Given the description of an element on the screen output the (x, y) to click on. 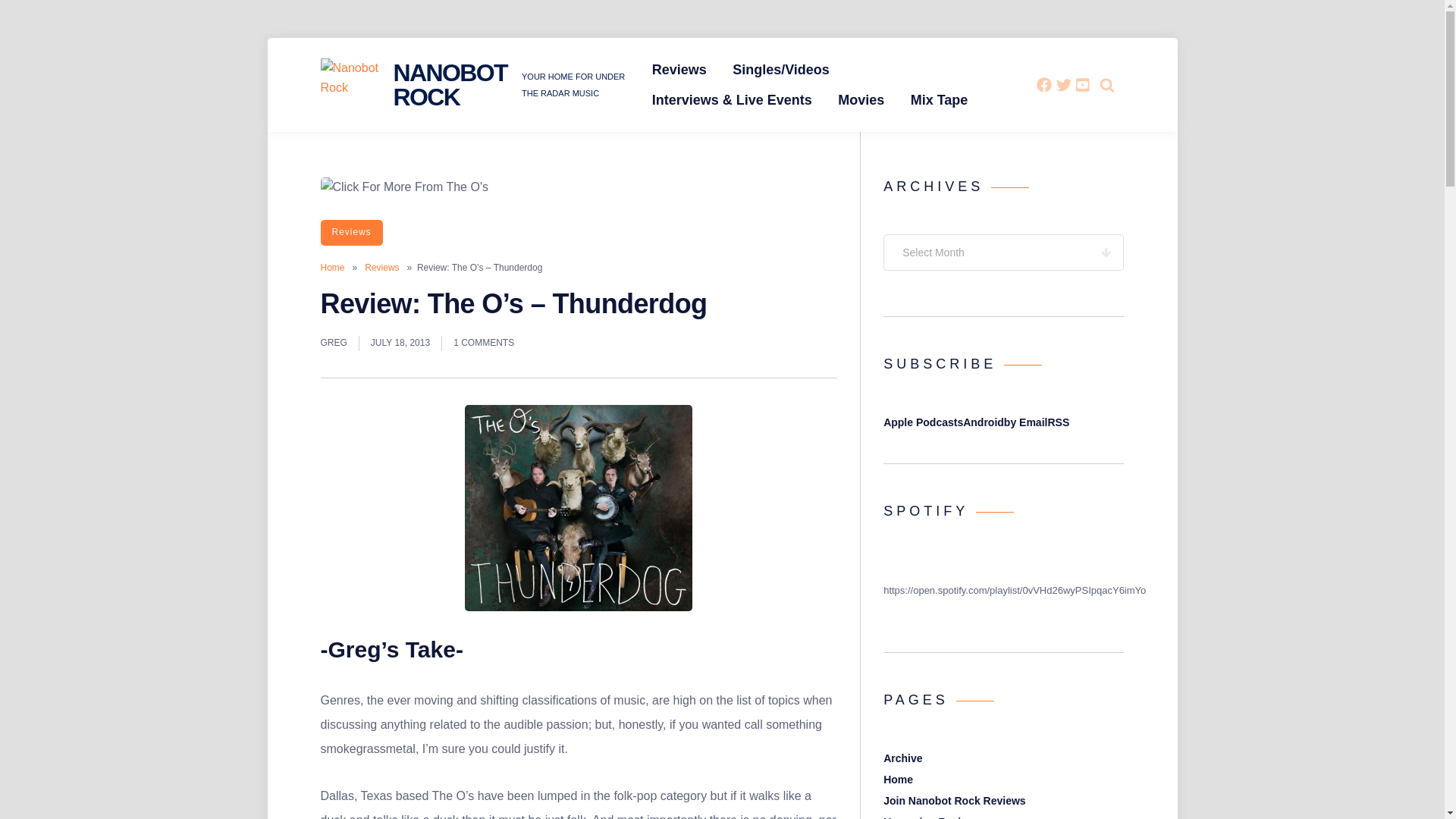
Reviews (678, 69)
Mix Tape (939, 100)
Movies (861, 100)
NANOBOT ROCK (449, 84)
Subscribe via RSS (1057, 422)
Subscribe on Android (983, 422)
Reviews (350, 232)
Reviews (381, 267)
Subscribe on Apple Podcasts (922, 422)
GREG (333, 343)
Search (1074, 127)
Home (331, 267)
Subscribe by Email (1026, 422)
